Given the description of an element on the screen output the (x, y) to click on. 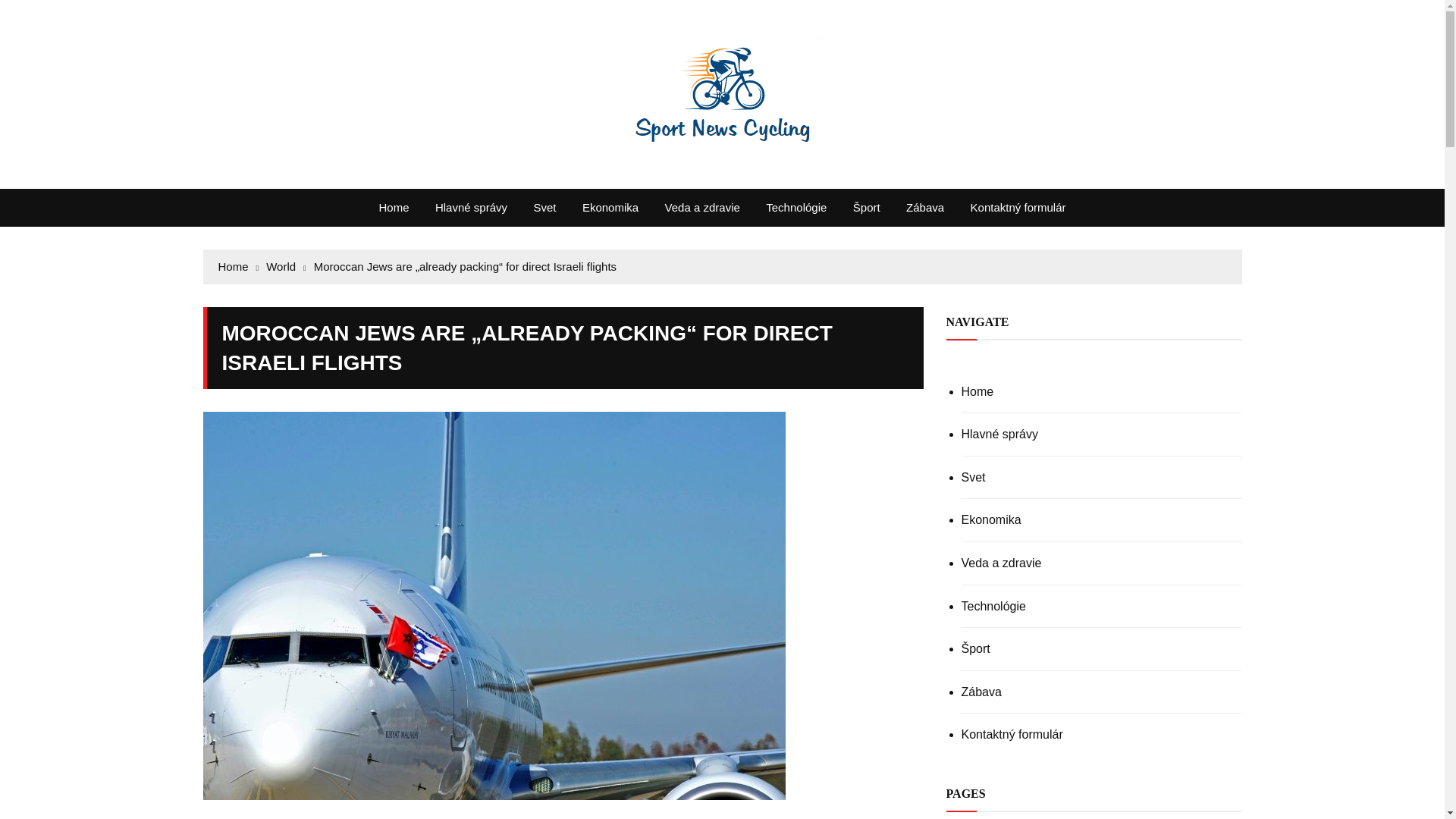
Ekonomika (609, 207)
World (285, 266)
Home (393, 207)
Home (238, 266)
Veda a zdravie (702, 207)
Svet (544, 207)
